Given the description of an element on the screen output the (x, y) to click on. 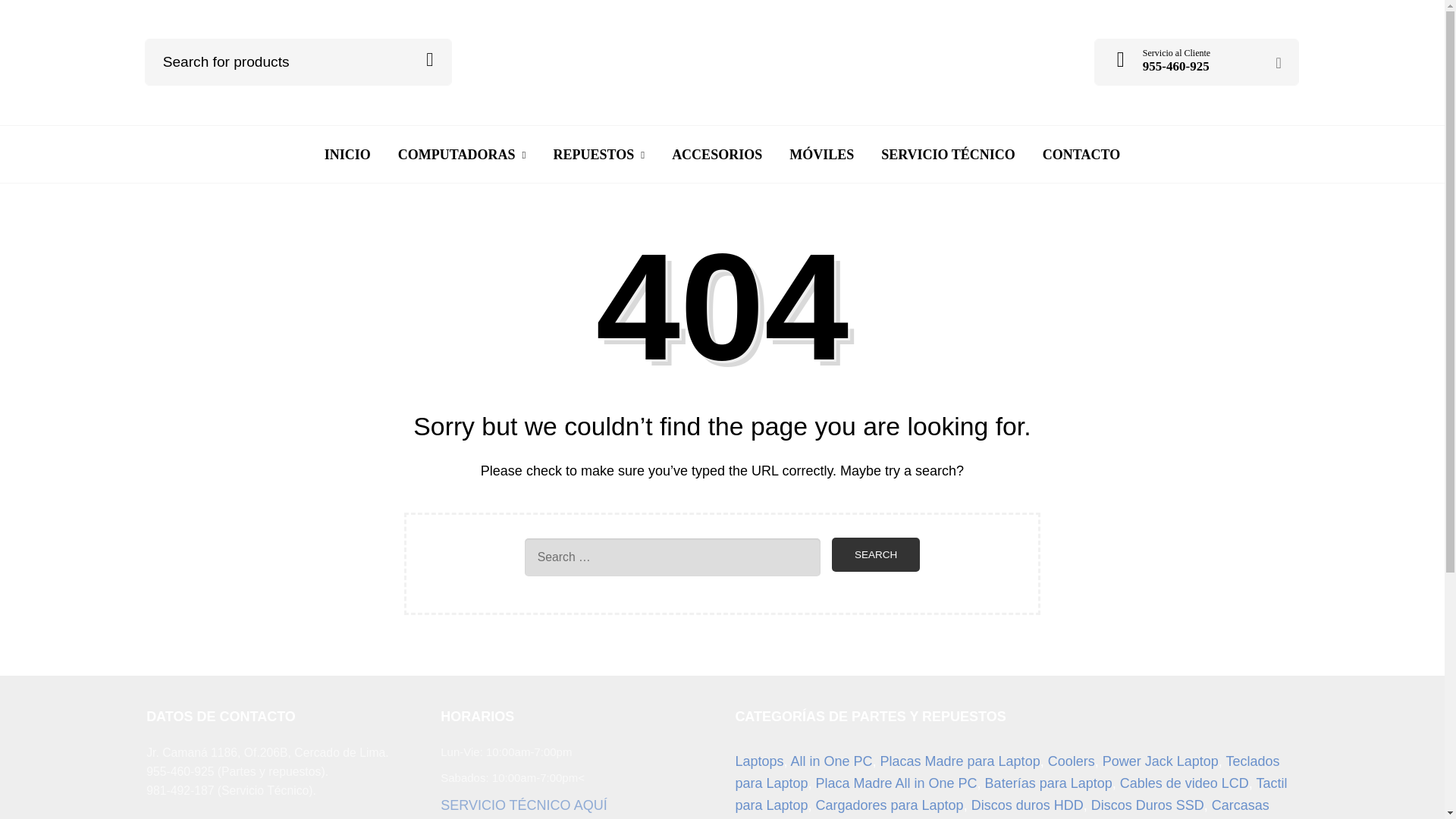
Search (875, 554)
Cables de video LCD (1184, 783)
INICIO (347, 155)
Placas Madre para Laptop (960, 761)
Power Jack Laptop (1160, 761)
Laptops (759, 761)
Teclados para Laptop (1007, 772)
All in One PC (831, 761)
Search (875, 554)
REPUESTOS (598, 155)
